Given the description of an element on the screen output the (x, y) to click on. 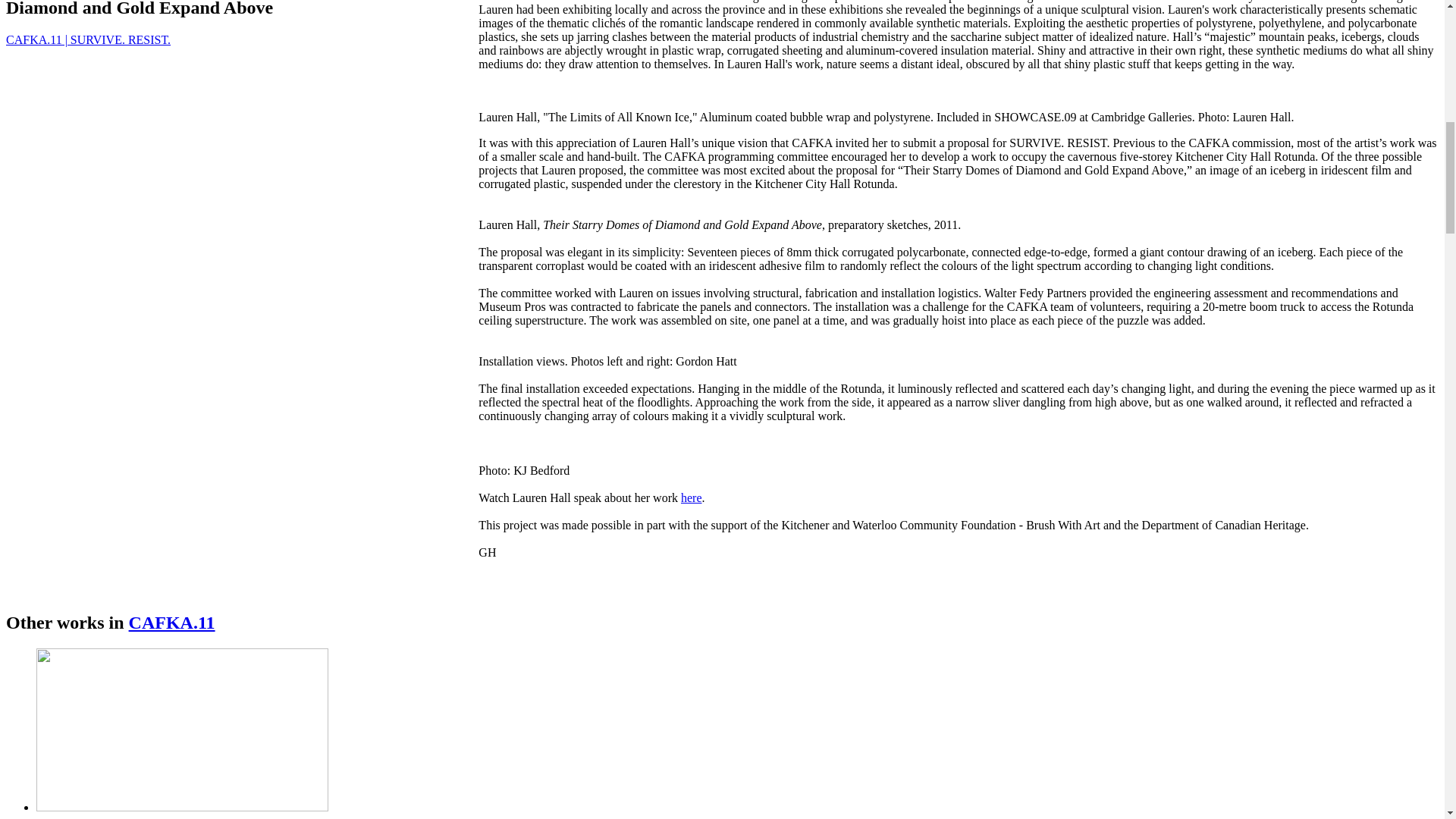
CAFKA.11 (172, 622)
here (691, 497)
